Given the description of an element on the screen output the (x, y) to click on. 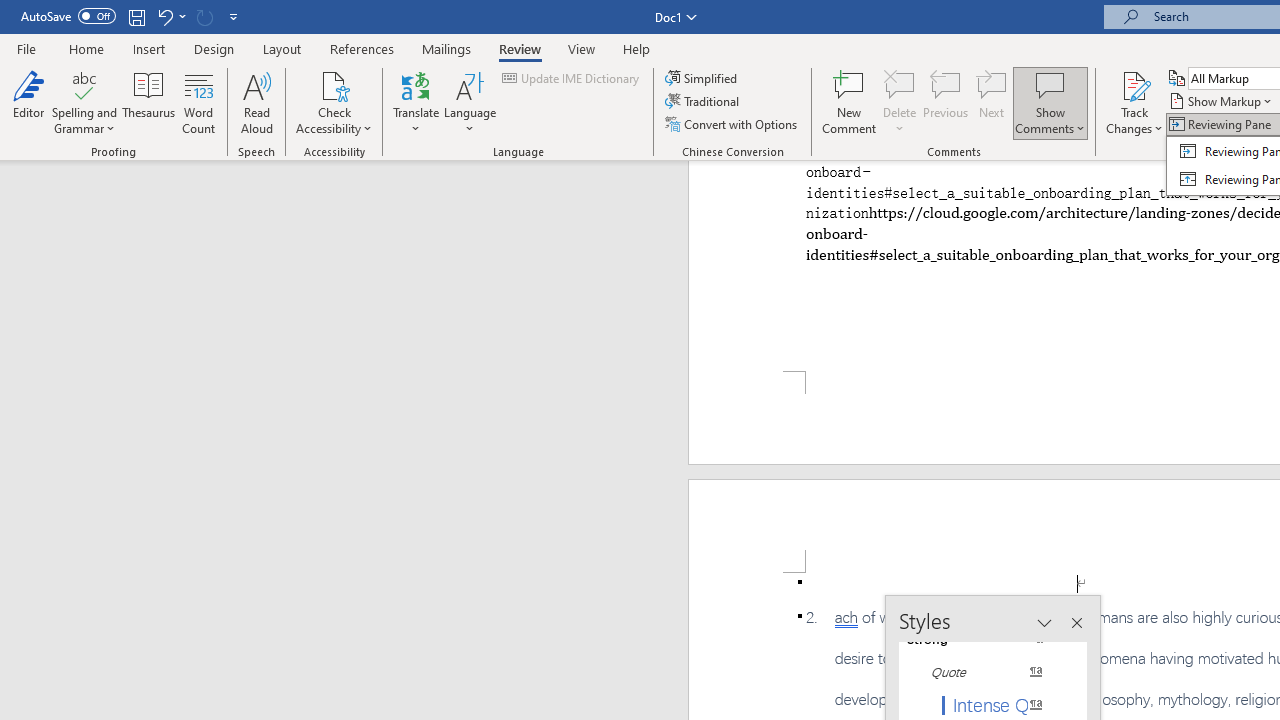
Convert with Options... (732, 124)
Undo Paste (164, 15)
Thesaurus... (148, 102)
Read Aloud (256, 102)
Track Changes (1134, 102)
Delete (900, 84)
Next (991, 102)
Show Comments (1050, 102)
Show Markup (1222, 101)
